Given the description of an element on the screen output the (x, y) to click on. 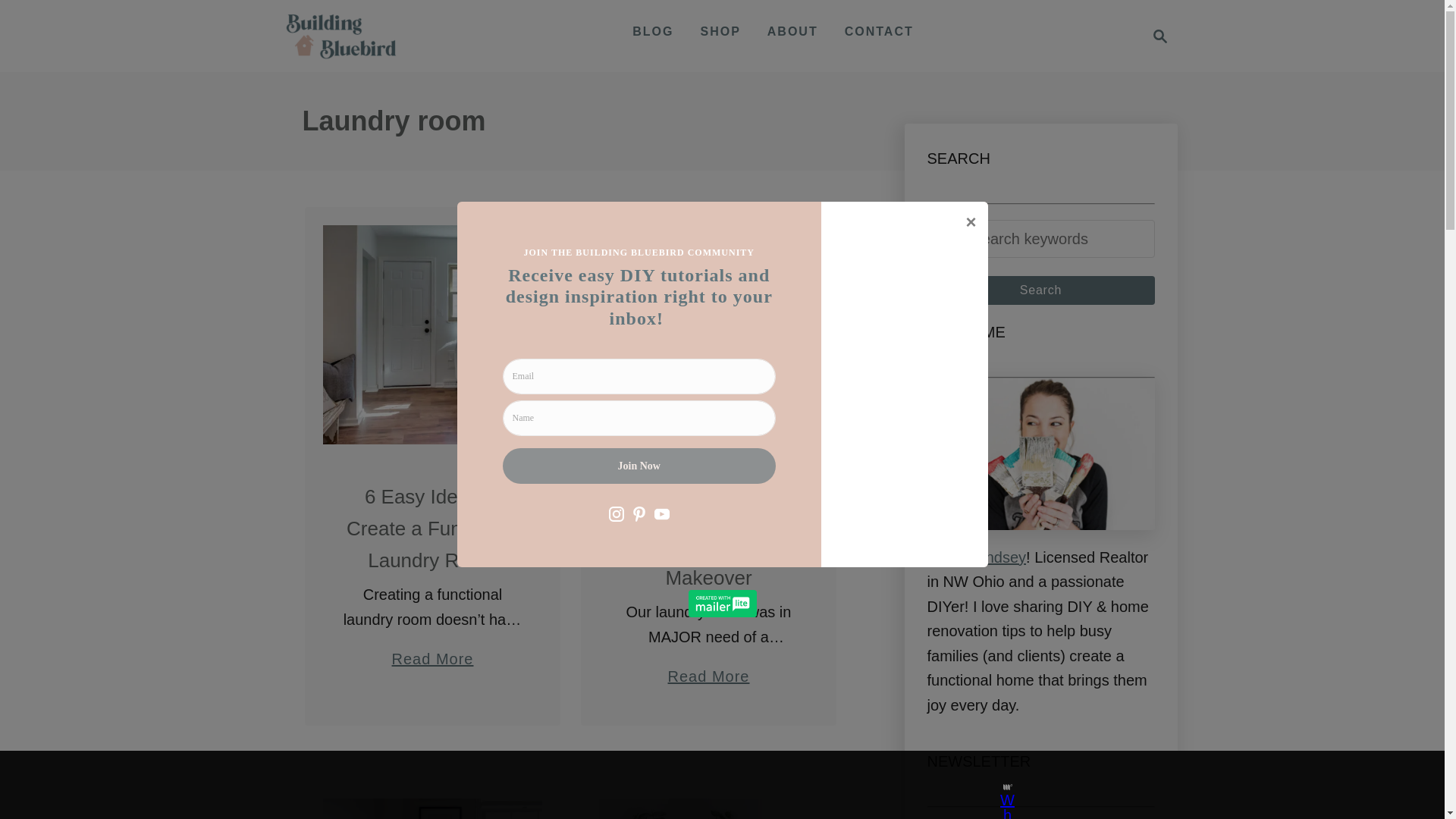
BLOG (652, 31)
ABOUT (792, 31)
CONTACT (879, 31)
SHOP (1155, 36)
Search (720, 31)
Search for: (1040, 290)
6 Easy Ideas to Create a Functional Laundry Room (1040, 239)
Magnifying Glass (432, 334)
Budget Friendly Laundry Room Makeover (1160, 36)
Building Bluebird (708, 343)
3rd party ad content (339, 35)
6 Easy Ideas to Create a Functional Laundry Room (708, 785)
Budget Friendly Laundry Room Makeover (708, 669)
